Given the description of an element on the screen output the (x, y) to click on. 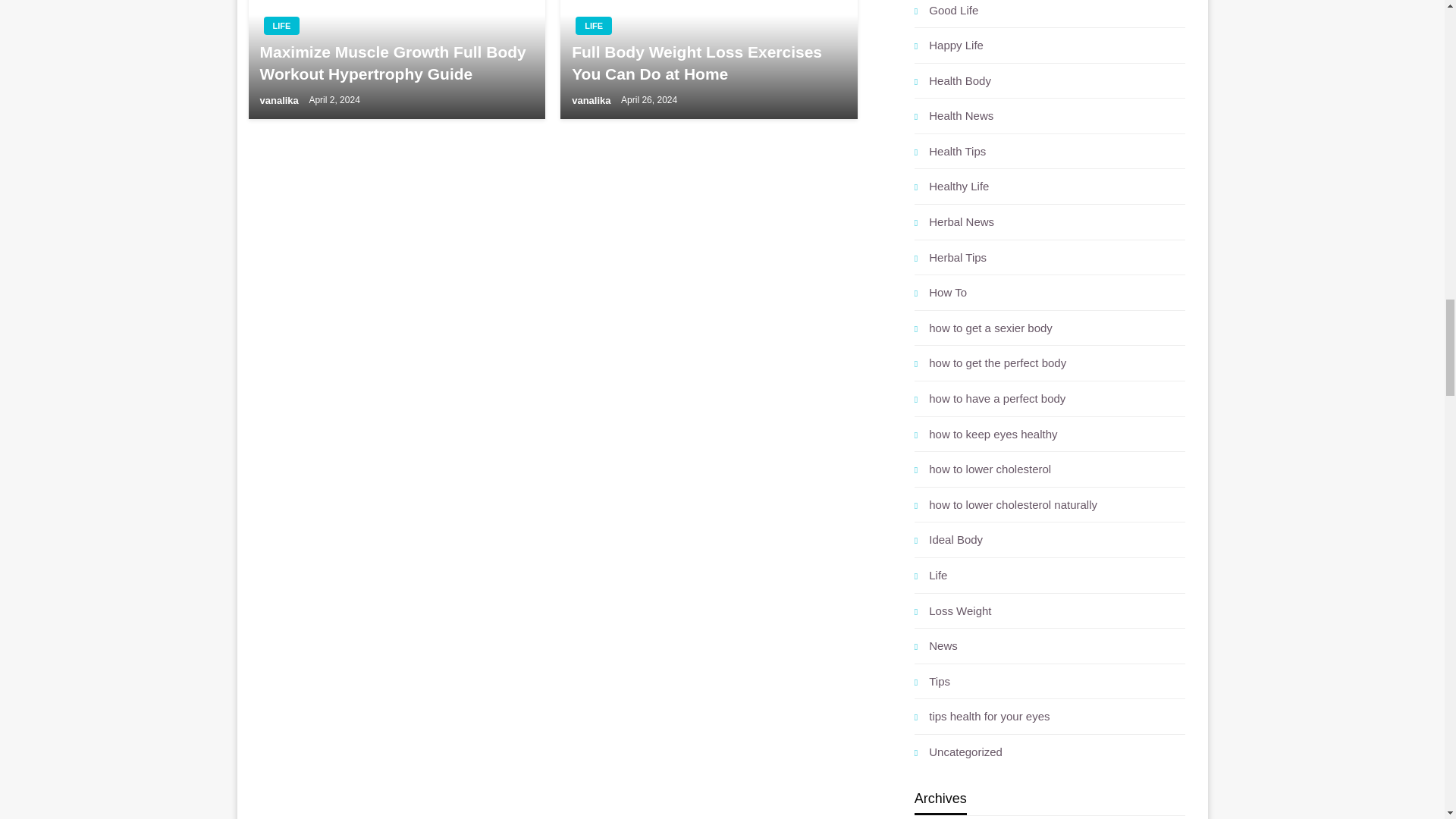
Full Body Weight Loss Exercises You Can Do at Home (708, 59)
Maximize Muscle Growth Full Body Workout Hypertrophy Guide (397, 59)
